Given the description of an element on the screen output the (x, y) to click on. 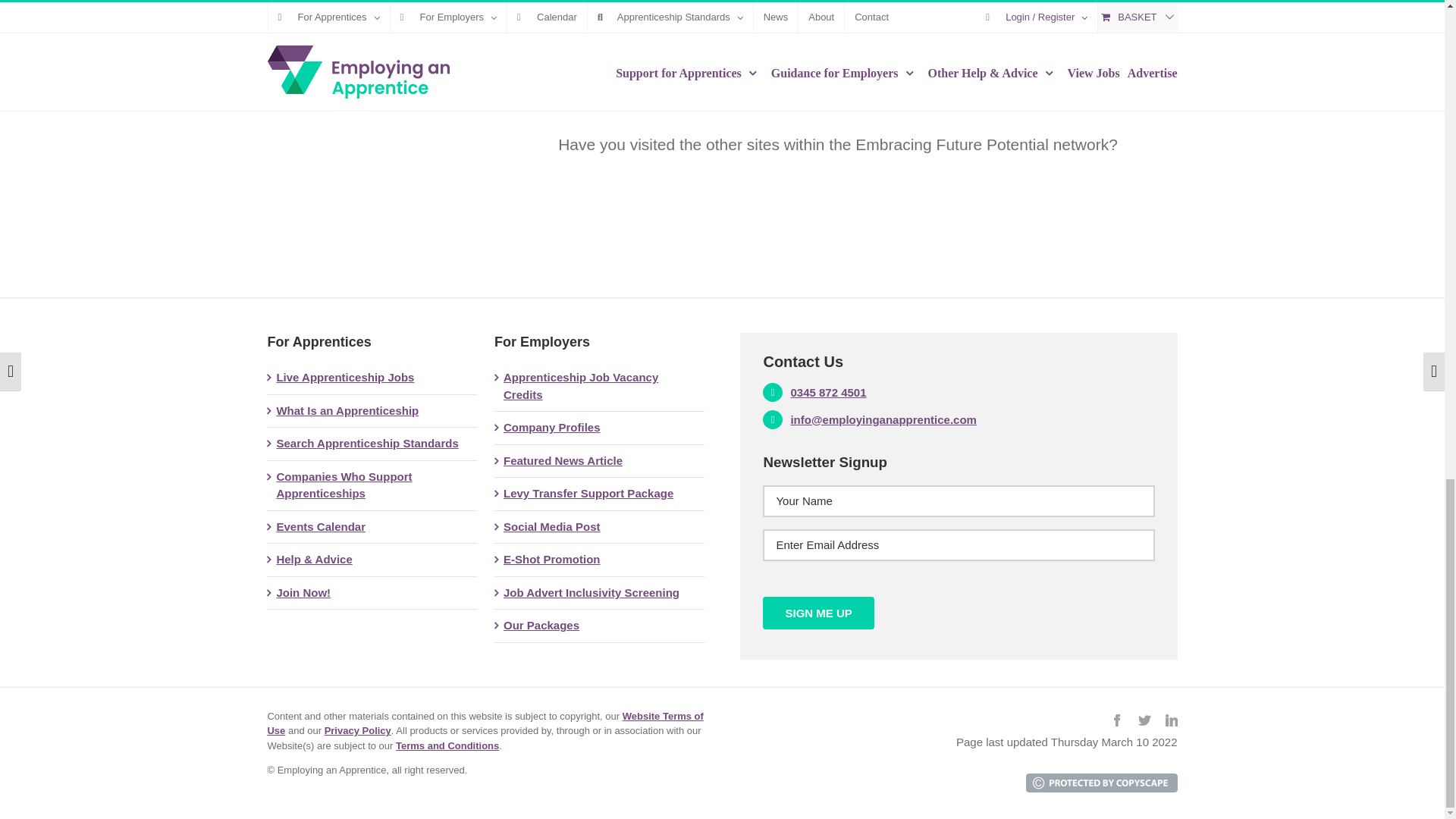
SIGN ME UP (817, 613)
